Given the description of an element on the screen output the (x, y) to click on. 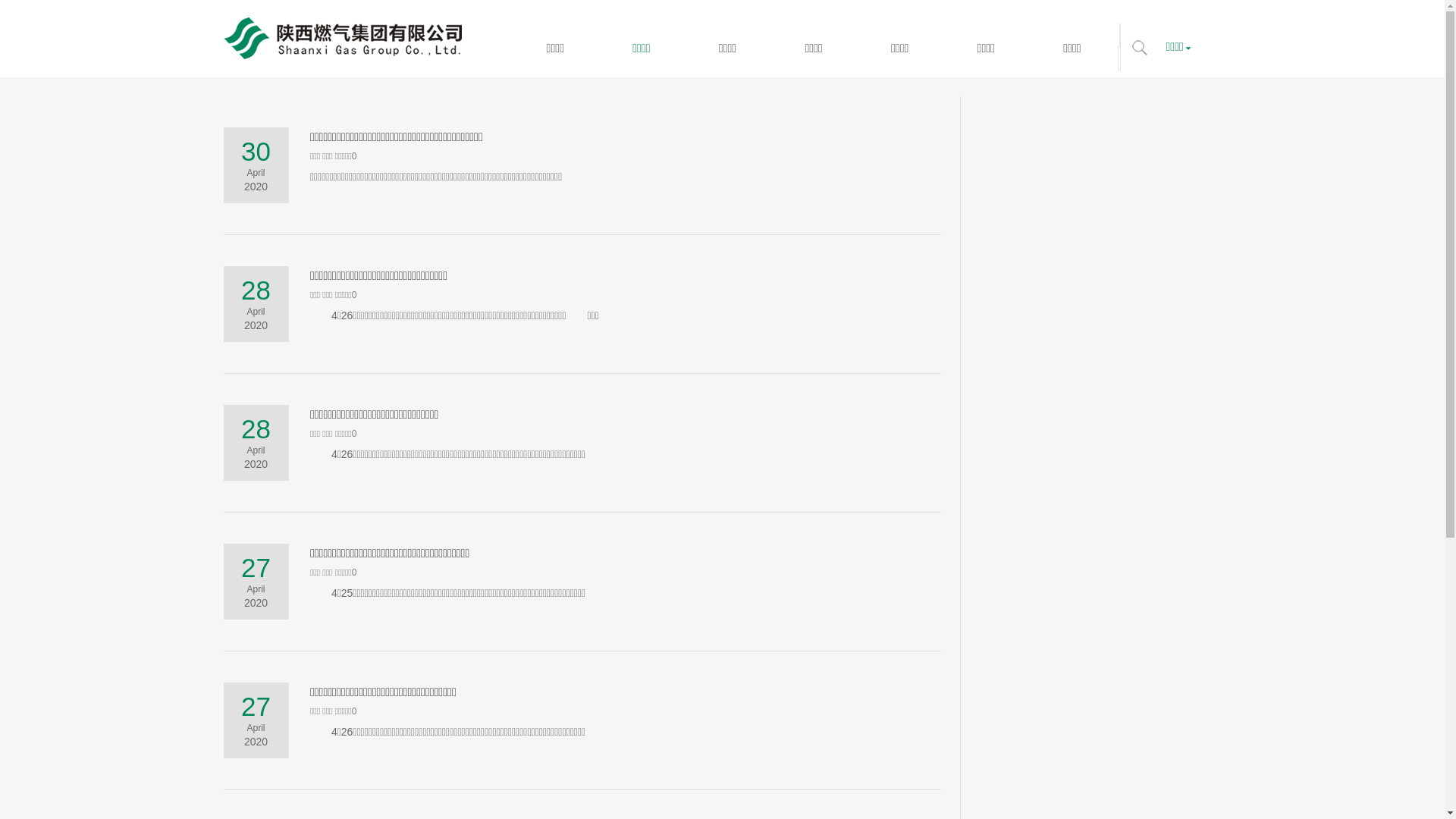
    Element type: text (1139, 47)
